Given the description of an element on the screen output the (x, y) to click on. 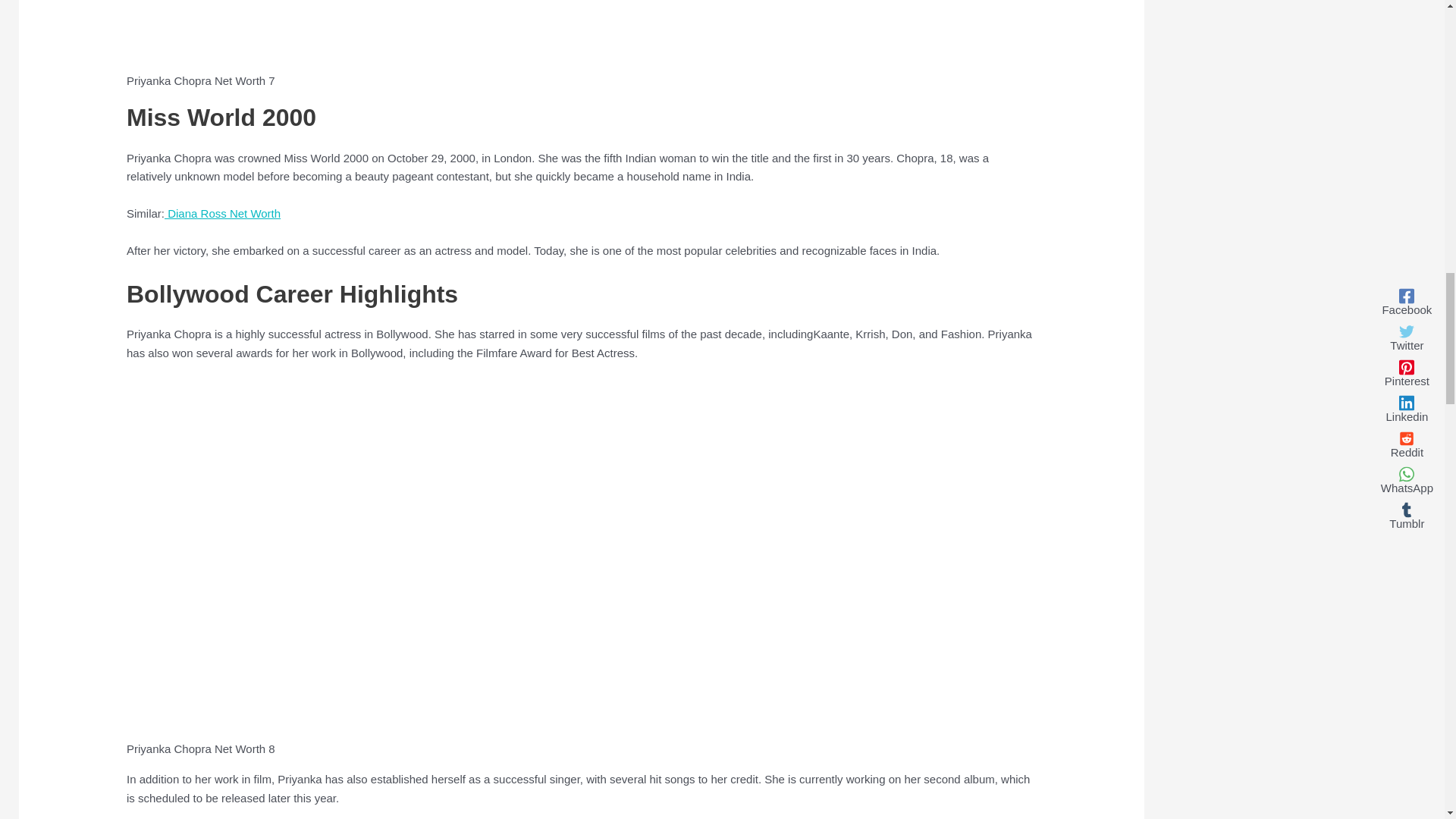
priyanka chopra net worth 3 (392, 33)
